Given the description of an element on the screen output the (x, y) to click on. 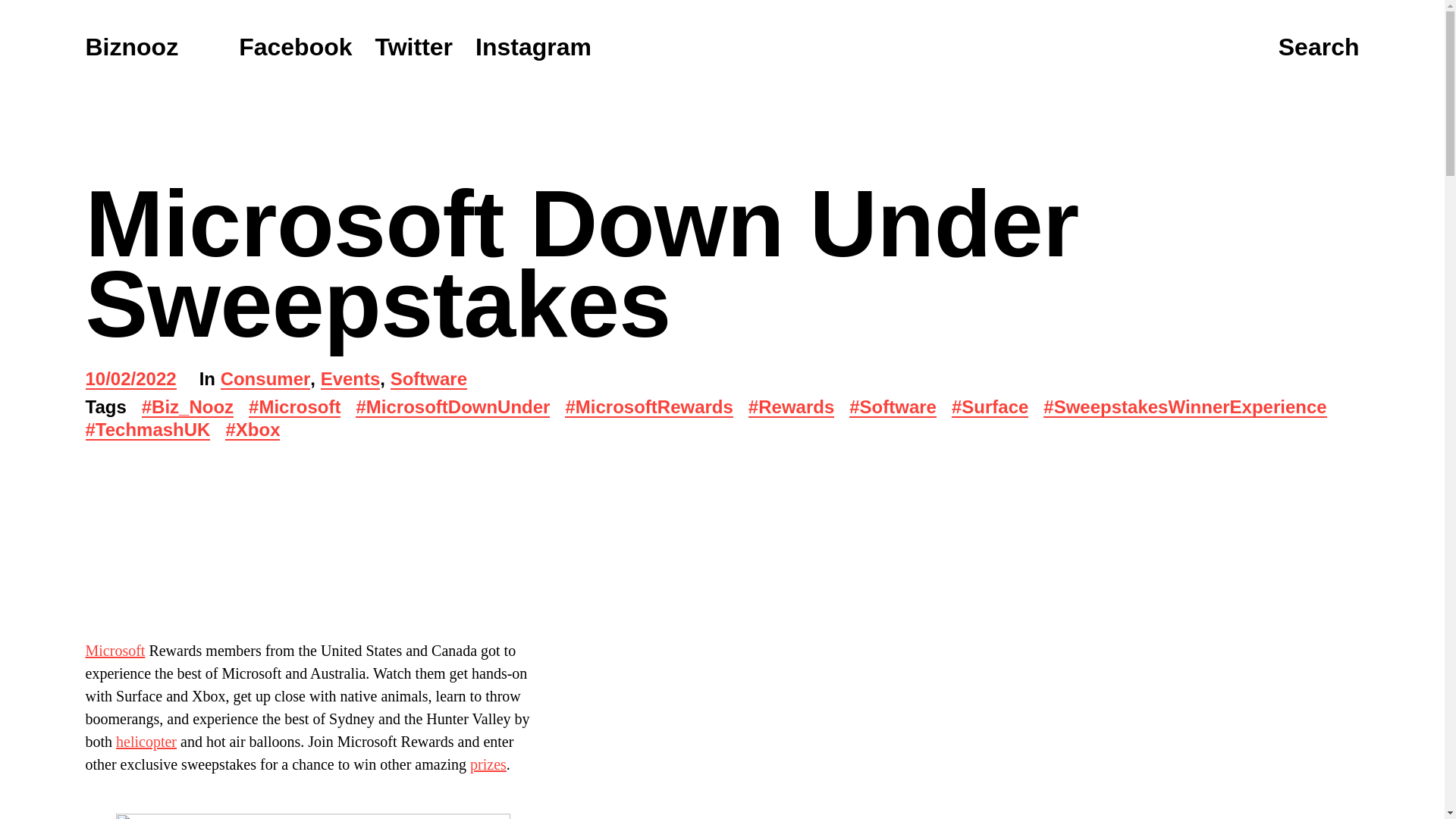
Consumer (266, 380)
Search (1318, 47)
Software (428, 380)
Microsoft (114, 650)
Instagram (533, 47)
Biznooz (130, 47)
prizes (488, 764)
Events (350, 380)
helicopter (146, 741)
Facebook (295, 47)
